Given the description of an element on the screen output the (x, y) to click on. 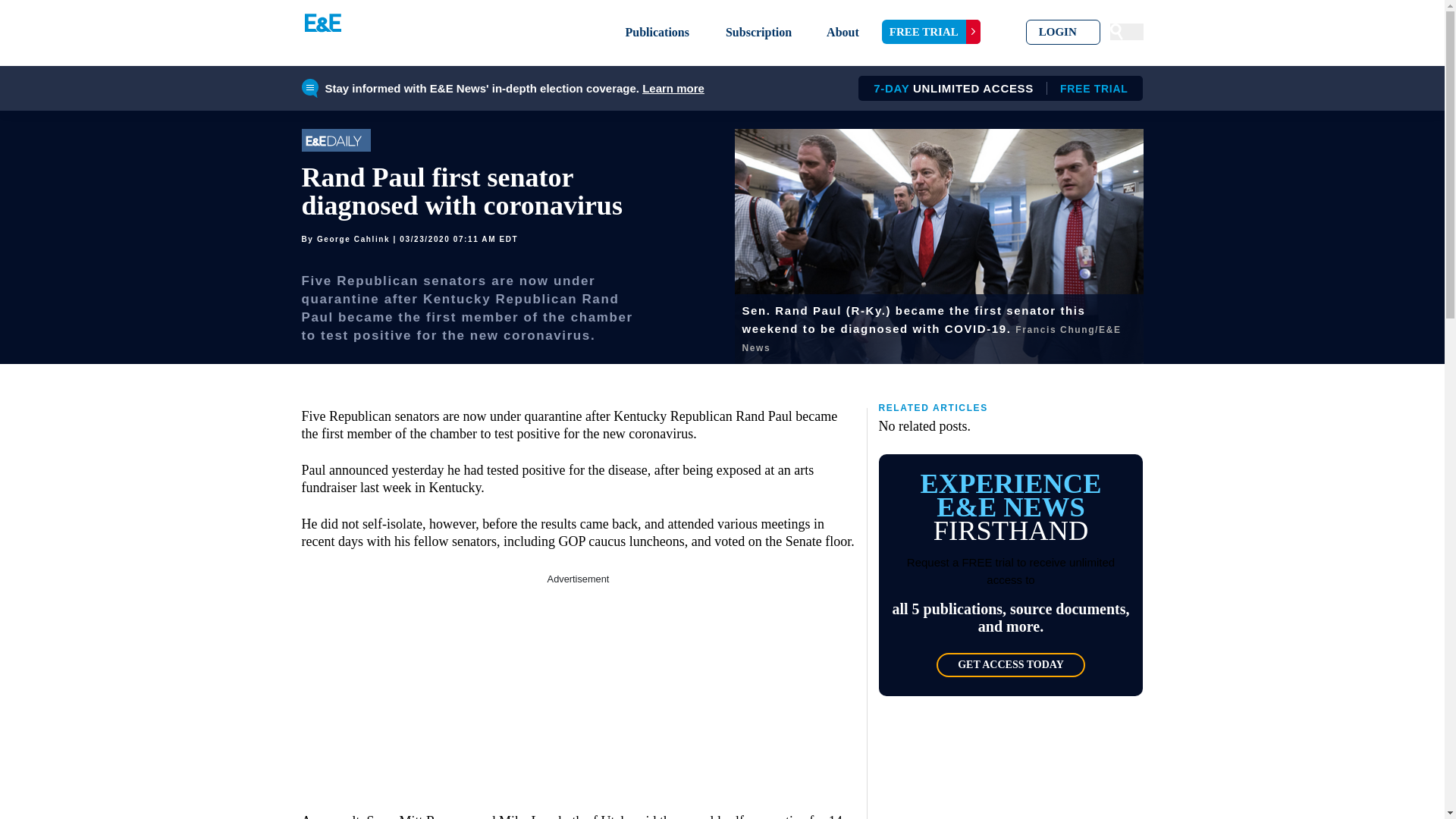
Publications (656, 32)
GET ACCESS TODAY (1010, 664)
3rd party ad content (577, 681)
Subscription (758, 32)
Learn more (673, 88)
LOGIN (1063, 32)
FREE TRIAL (930, 31)
About (994, 88)
Skip to primary navigation (843, 32)
